Given the description of an element on the screen output the (x, y) to click on. 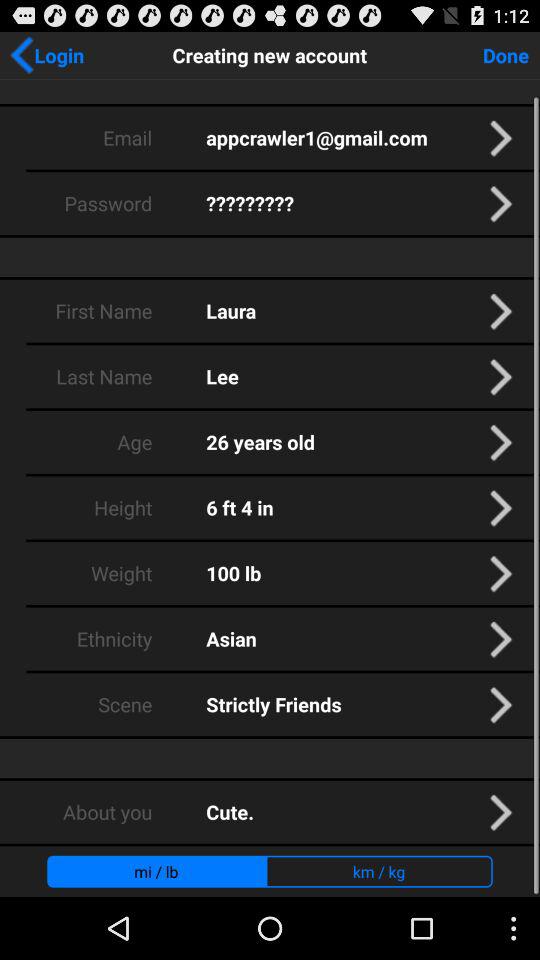
turn off mi / lb app (156, 871)
